Given the description of an element on the screen output the (x, y) to click on. 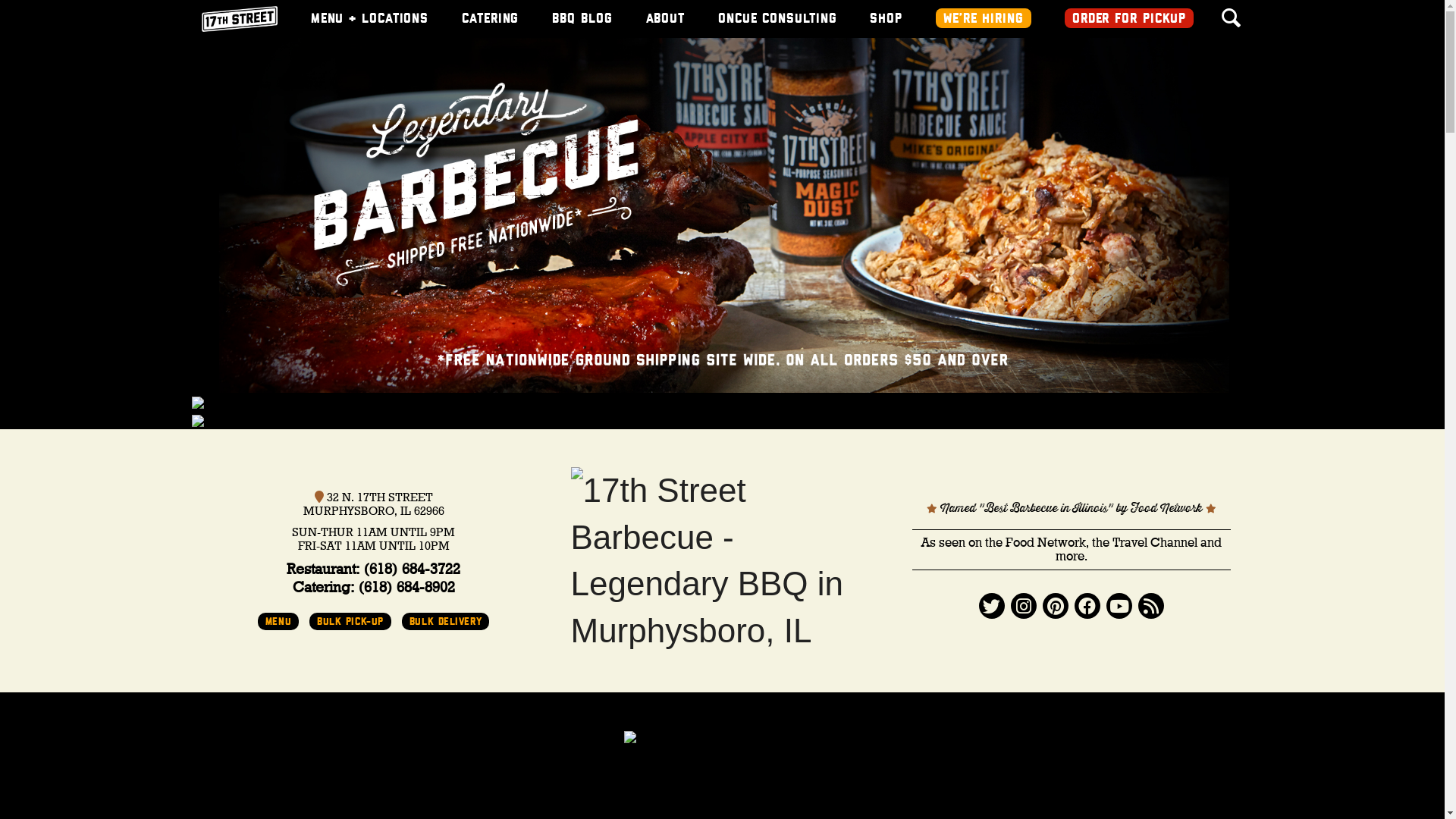
Search Element type: text (25, 8)
RSS Feed Element type: hover (1150, 605)
Twitter Element type: hover (991, 605)
Bulk Pick-Up Element type: text (350, 621)
Menu Element type: text (277, 621)
Facebook Element type: hover (1086, 605)
CATERING Element type: text (489, 18)
ORDER FOR PICKUP Element type: text (1128, 18)
BBQ BLOG Element type: text (581, 18)
Instagram Element type: hover (1022, 605)
SHOP Element type: text (885, 18)
ABOUT Element type: text (665, 18)
MENU + LOCATIONS Element type: text (369, 18)
Bulk Delivery Element type: text (445, 621)
Pinterest Element type: hover (1054, 605)
ONCUE CONSULTING Element type: text (777, 18)
YouTube Element type: hover (1118, 605)
